Given the description of an element on the screen output the (x, y) to click on. 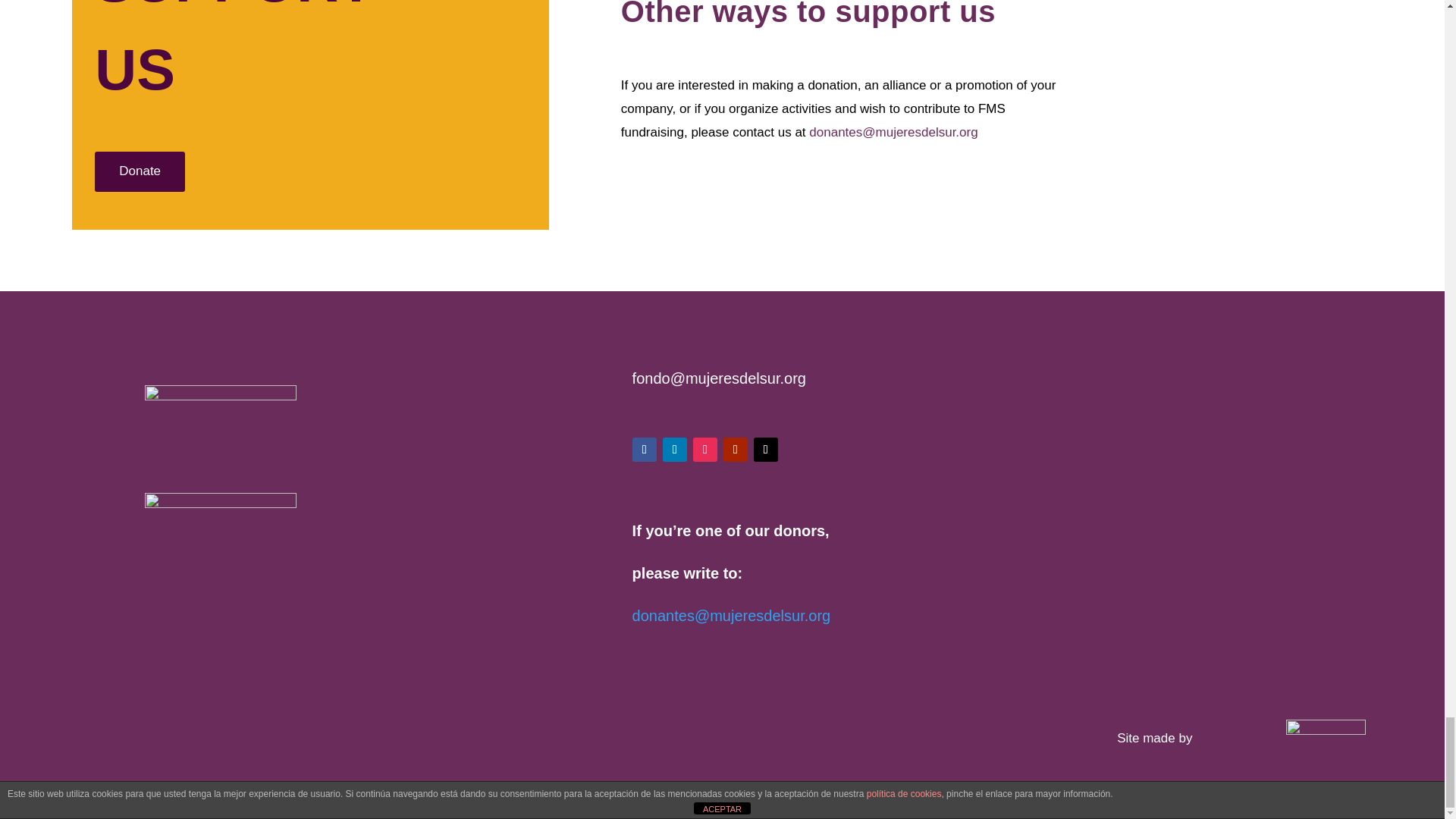
Follow on X (765, 449)
Donate (139, 171)
Follow on Instagram (705, 449)
ALTLOGO 1 (1325, 738)
Follow on Youtube (735, 449)
Follow on LinkedIn (674, 449)
Follow on Facebook (643, 449)
